Given the description of an element on the screen output the (x, y) to click on. 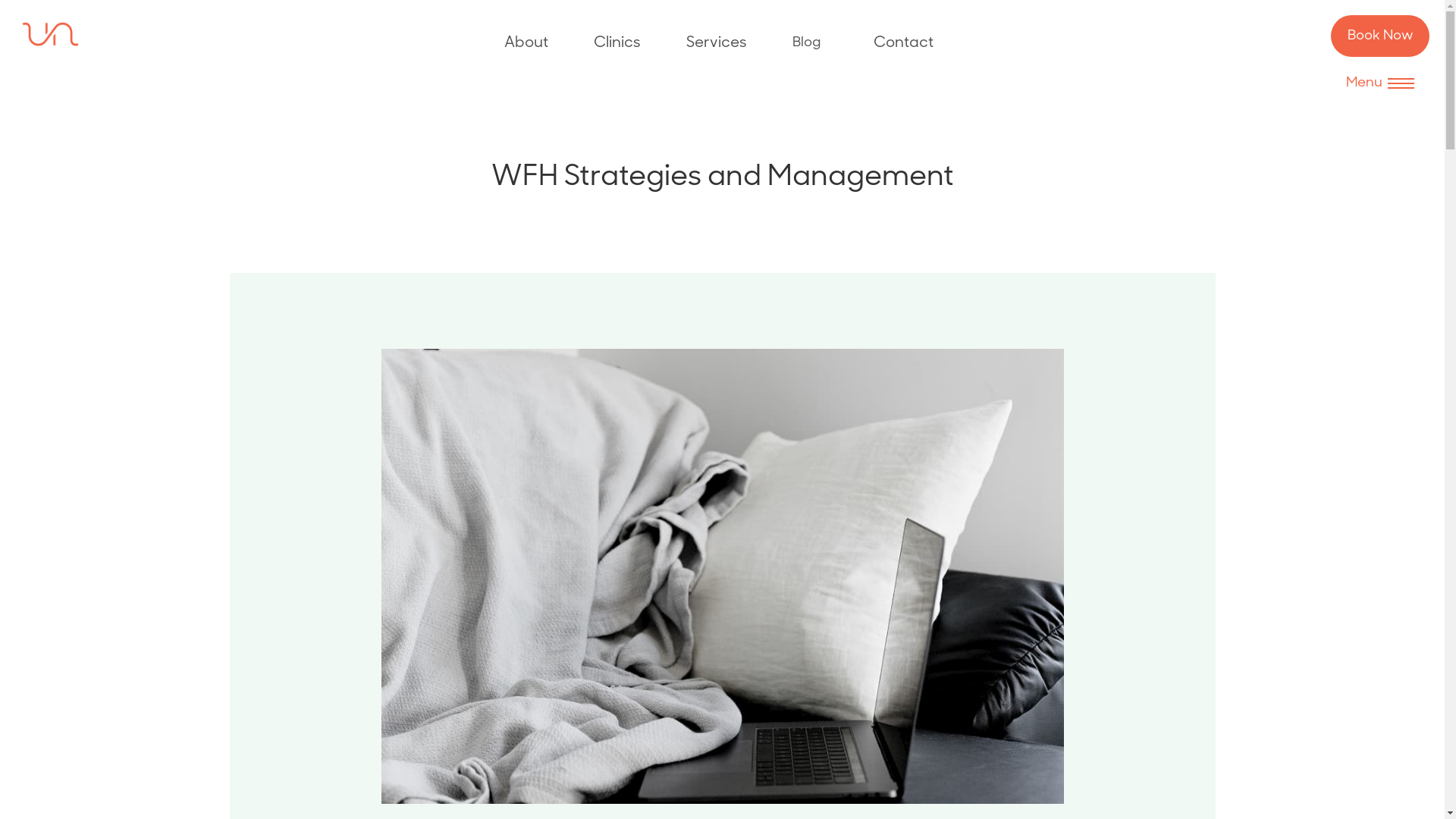
Menu Element type: text (1379, 83)
Contact Element type: text (903, 43)
Blog Element type: text (805, 43)
Book Now Element type: text (1379, 35)
